Given the description of an element on the screen output the (x, y) to click on. 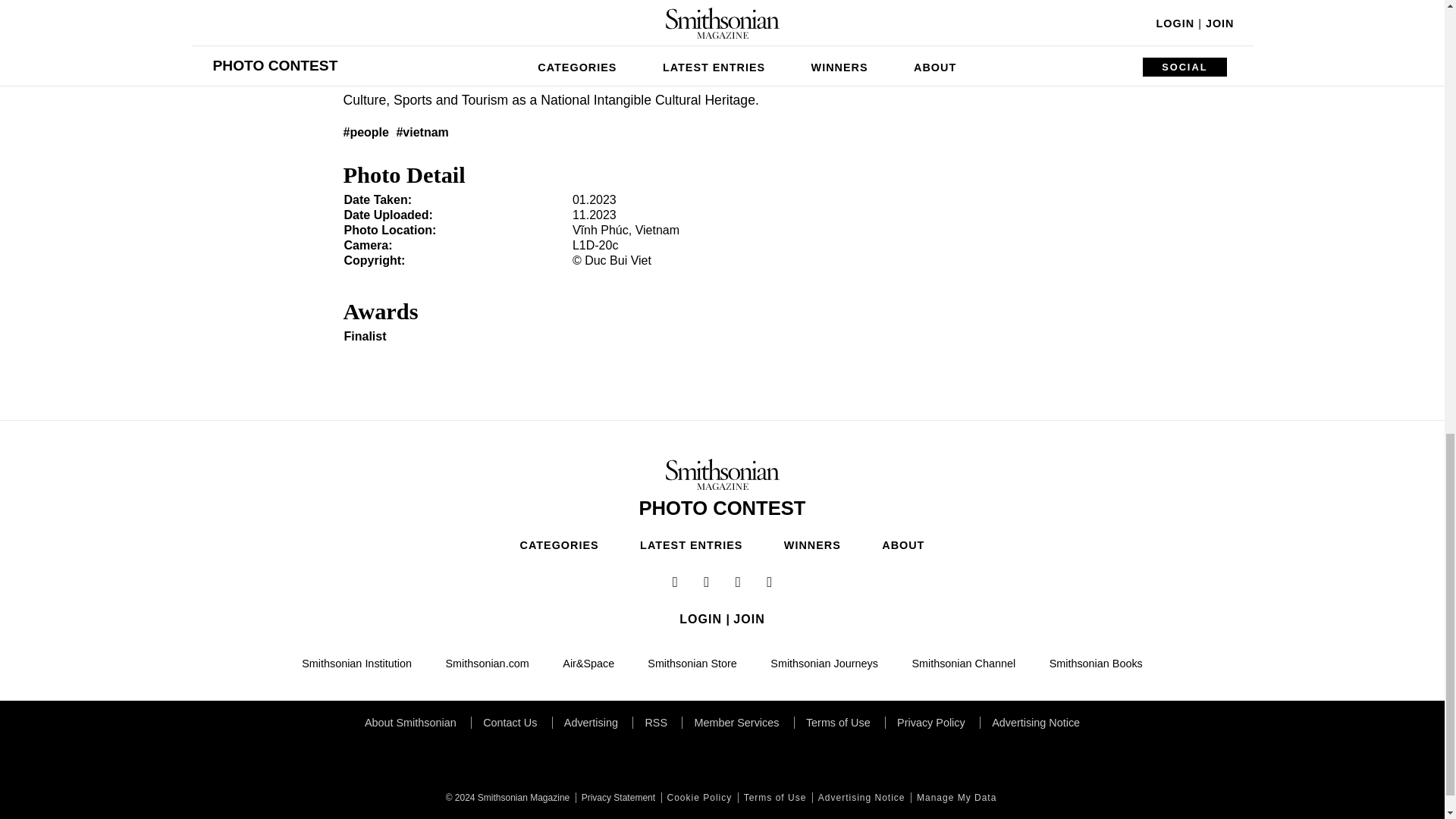
Cookie Policy (698, 797)
Manage My Data (954, 797)
Advertising Notice (859, 797)
Privacy Statement (616, 797)
Terms of Use (773, 797)
